Given the description of an element on the screen output the (x, y) to click on. 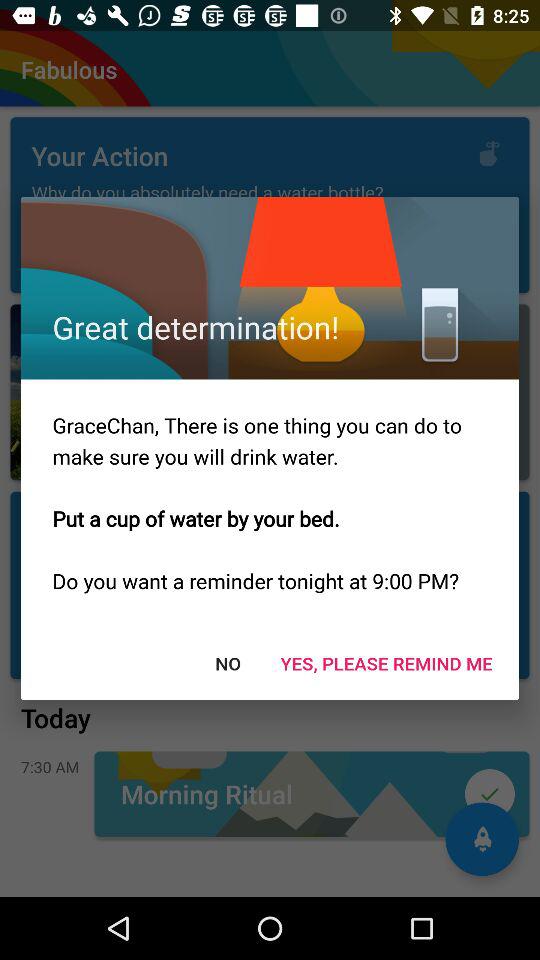
open item next to no item (386, 662)
